Given the description of an element on the screen output the (x, y) to click on. 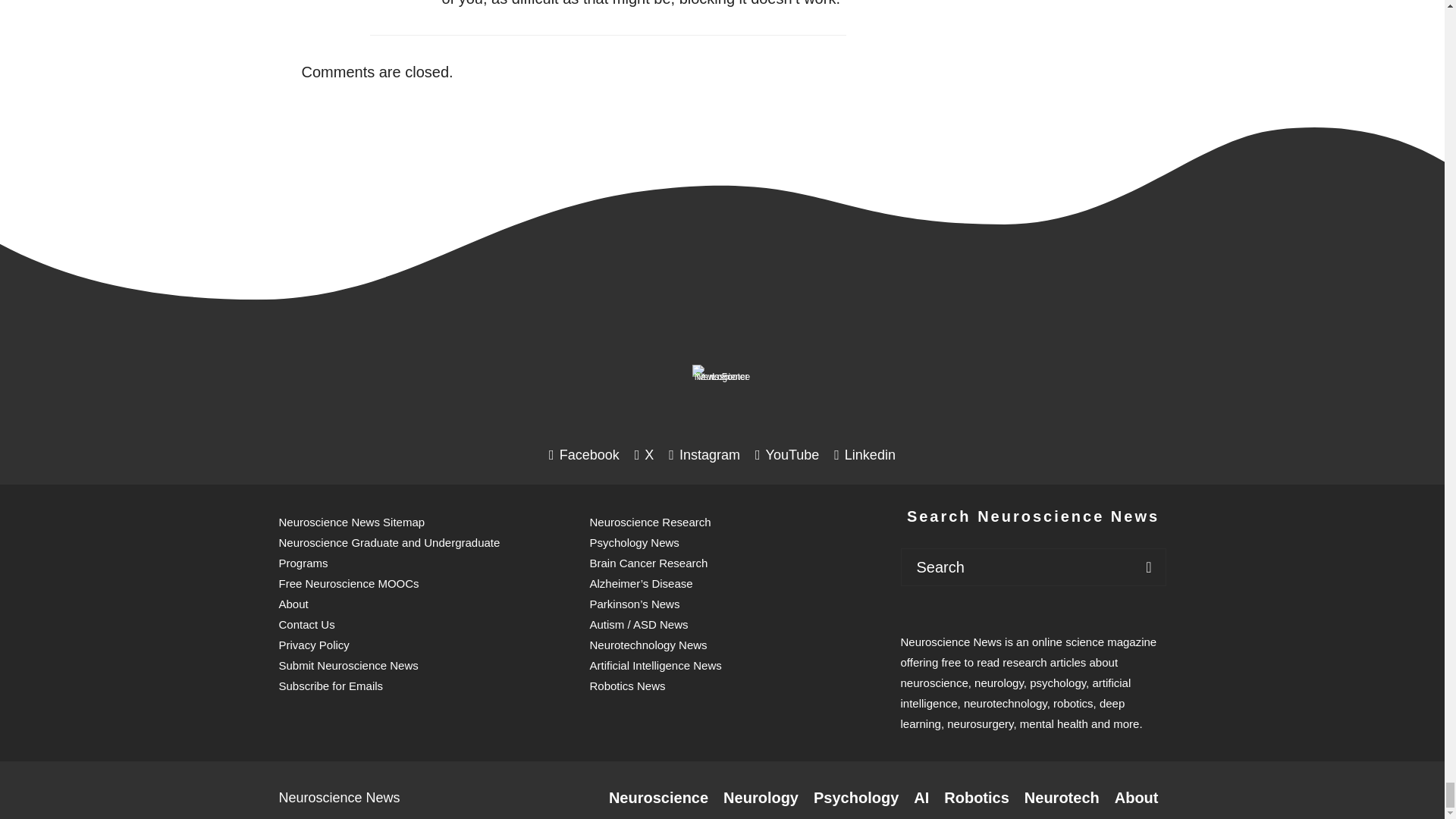
Psychology Research Articles (855, 797)
Neurology Research Articles (760, 797)
Neuroscience Research (657, 797)
